Given the description of an element on the screen output the (x, y) to click on. 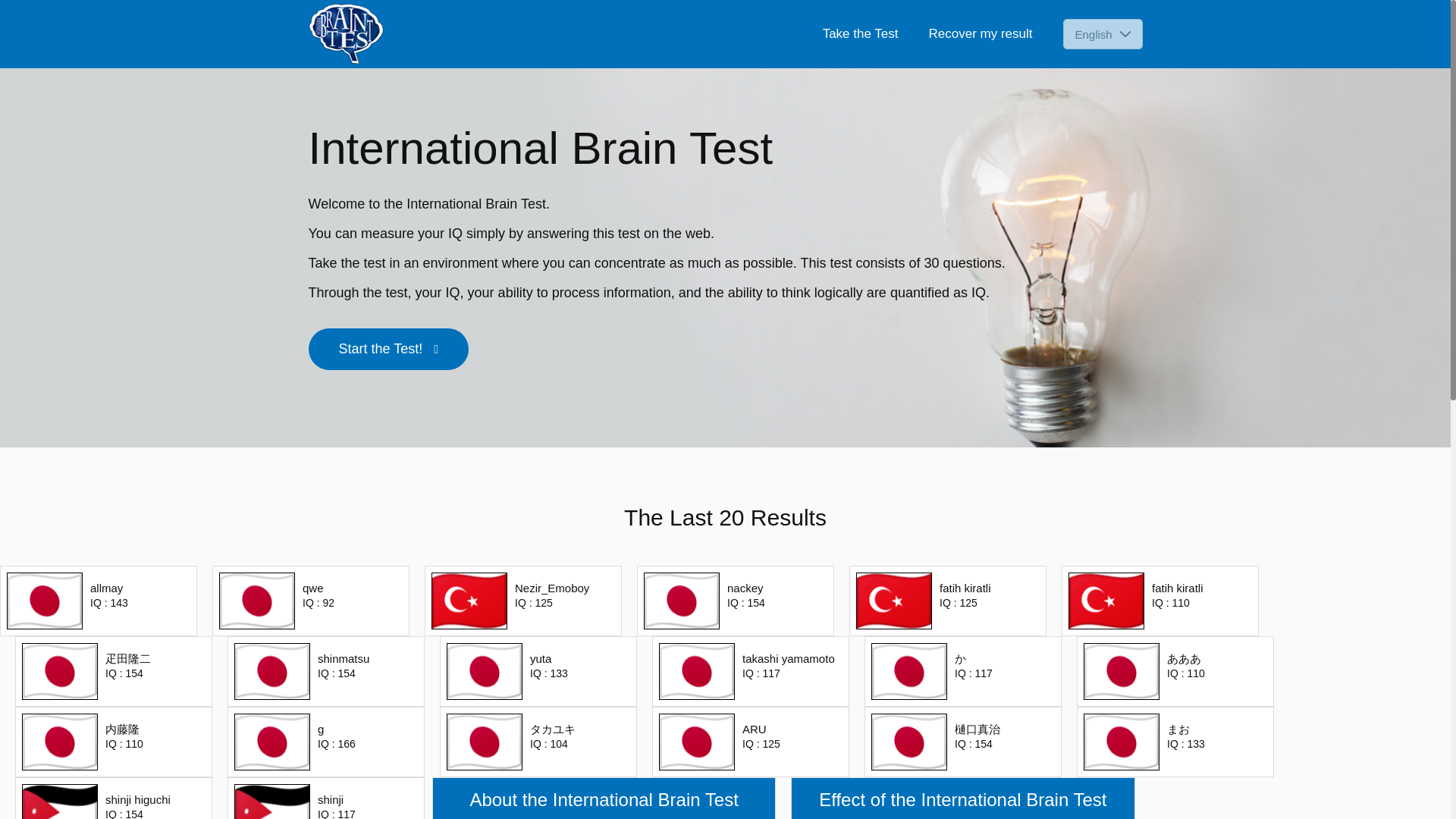
Take the Test (860, 33)
Recover my result (980, 33)
Start the Test! (387, 349)
